Given the description of an element on the screen output the (x, y) to click on. 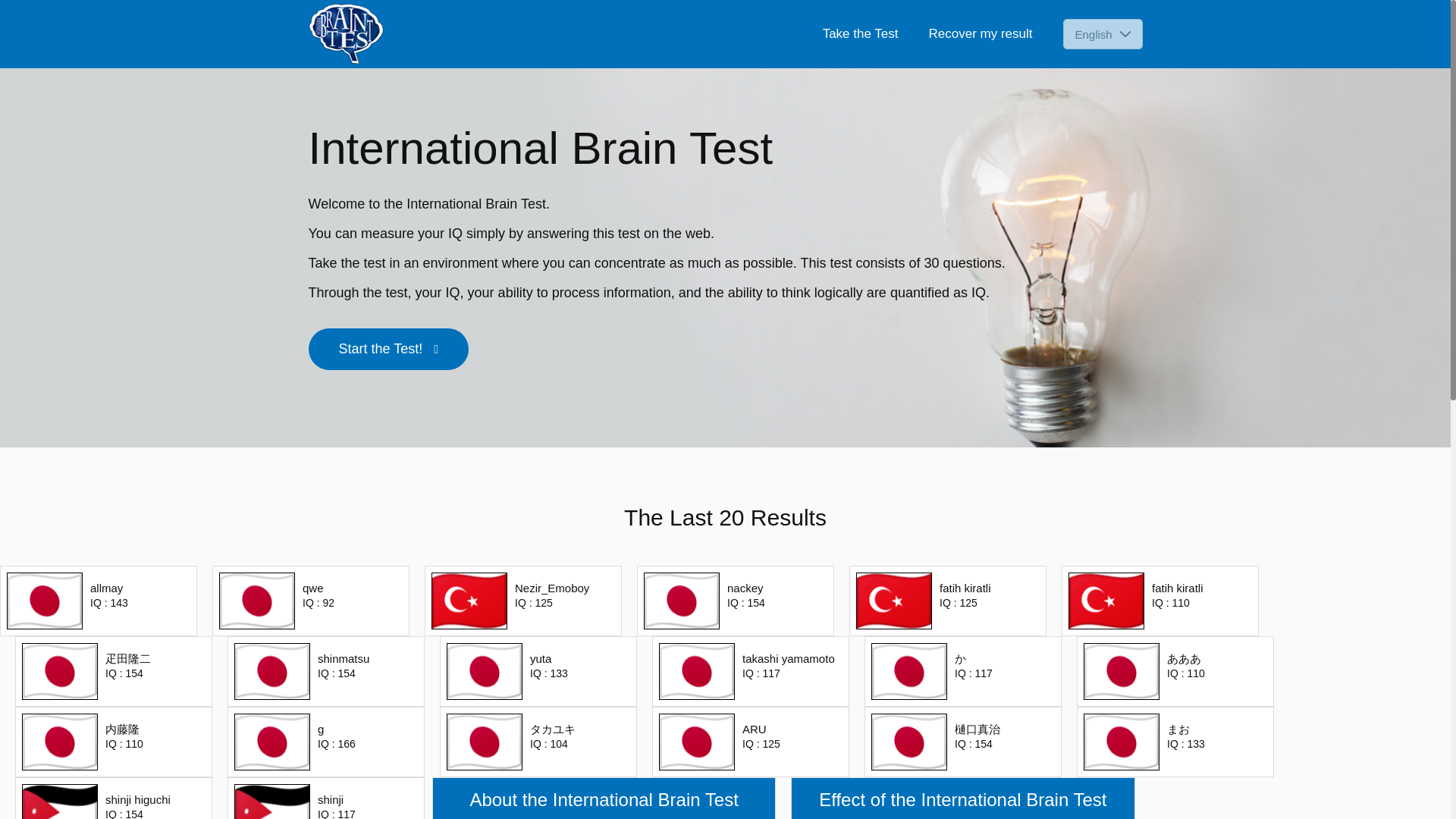
Take the Test (860, 33)
Recover my result (980, 33)
Start the Test! (387, 349)
